Given the description of an element on the screen output the (x, y) to click on. 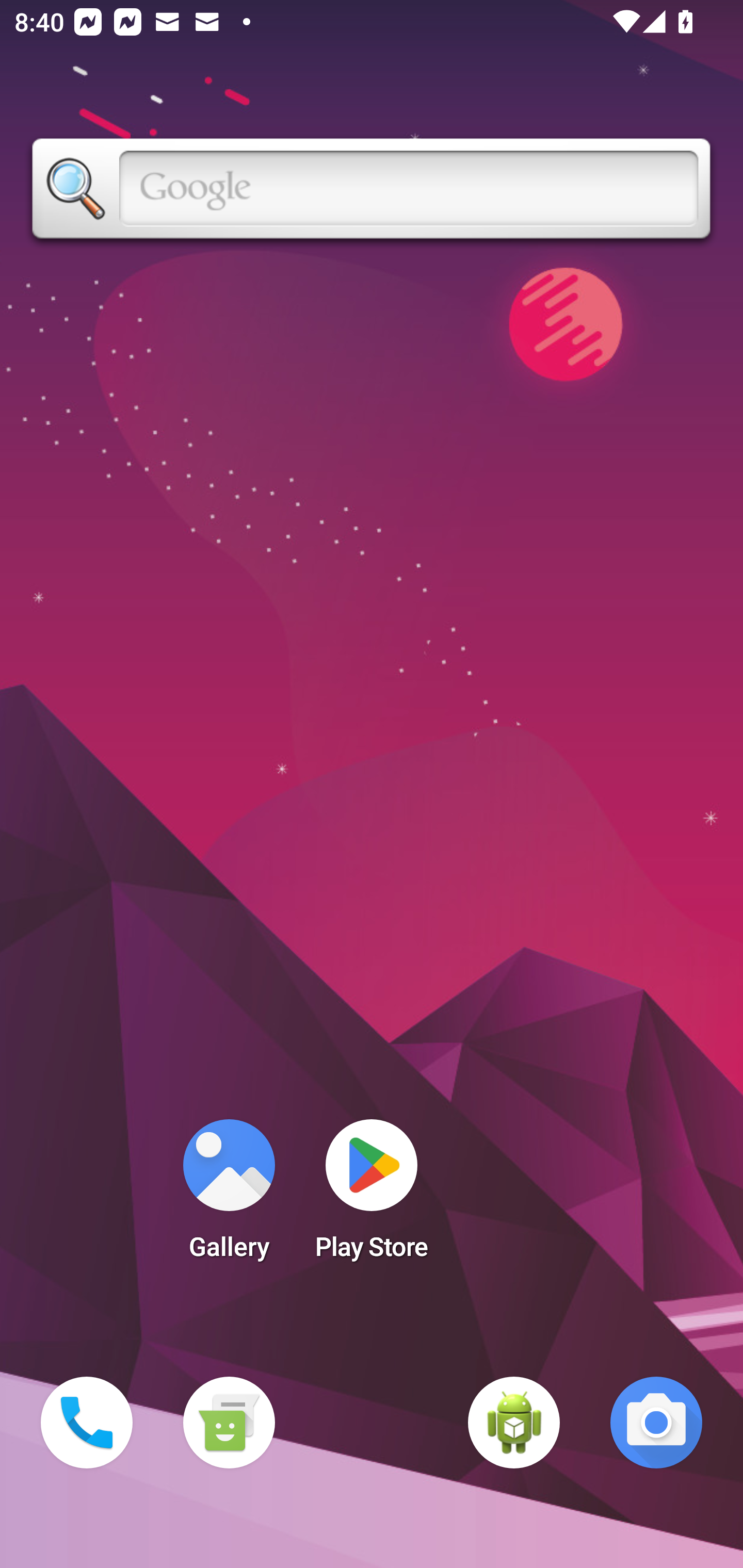
Gallery (228, 1195)
Play Store (371, 1195)
Phone (86, 1422)
Messaging (228, 1422)
WebView Browser Tester (513, 1422)
Camera (656, 1422)
